Given the description of an element on the screen output the (x, y) to click on. 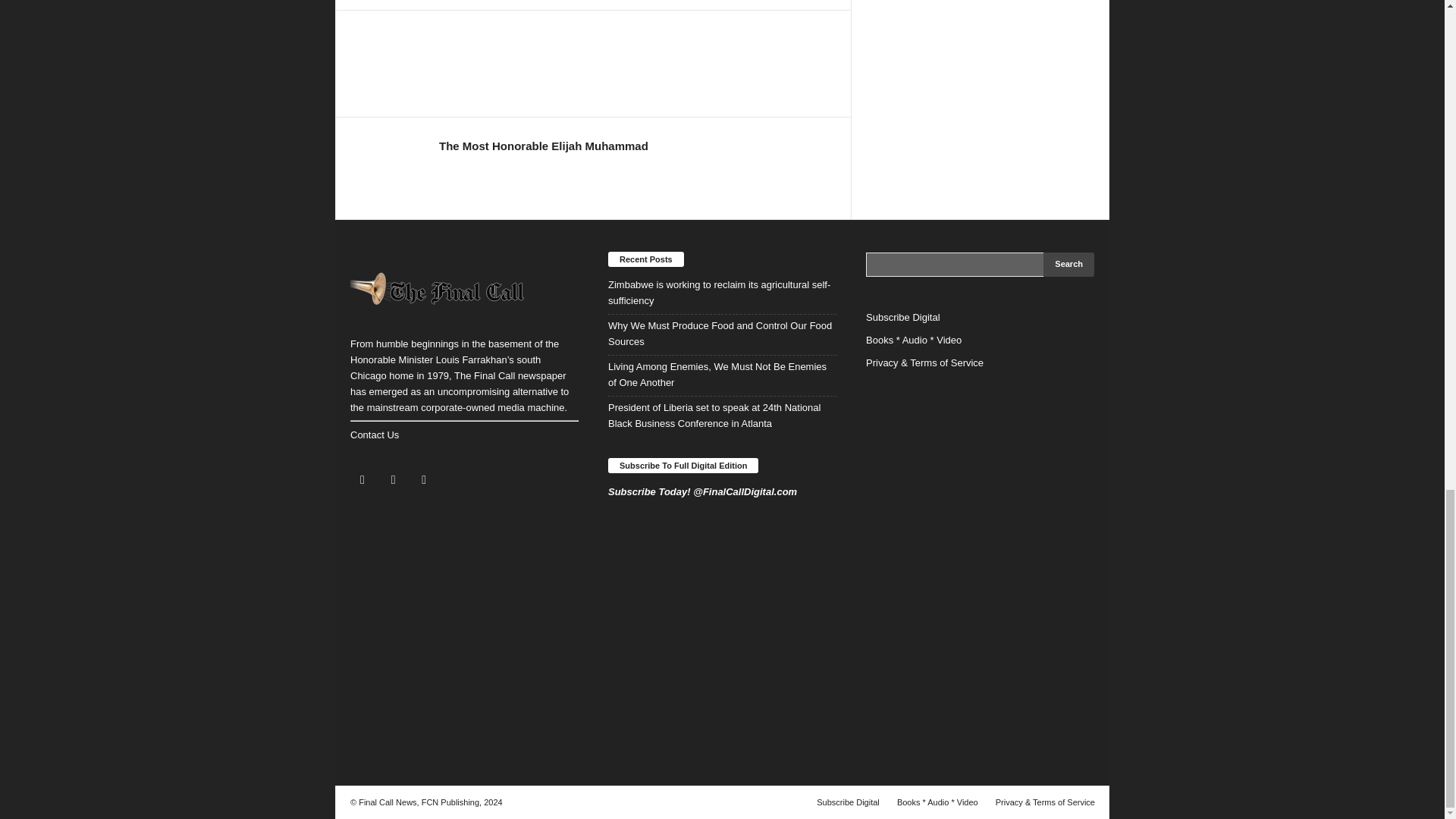
Search (1068, 264)
